Given the description of an element on the screen output the (x, y) to click on. 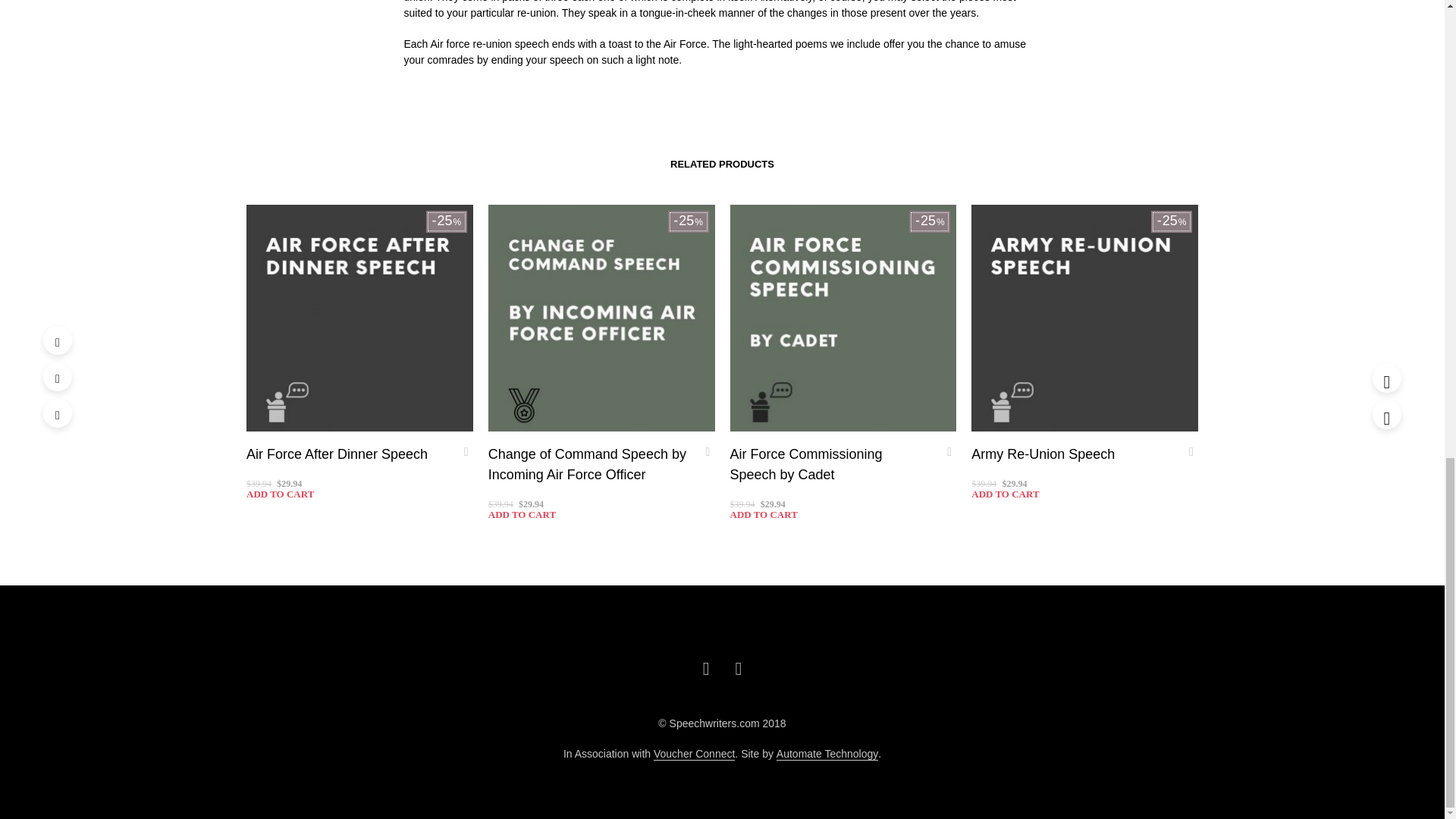
Voucher Connect (694, 754)
Automate Technology (826, 754)
